Given the description of an element on the screen output the (x, y) to click on. 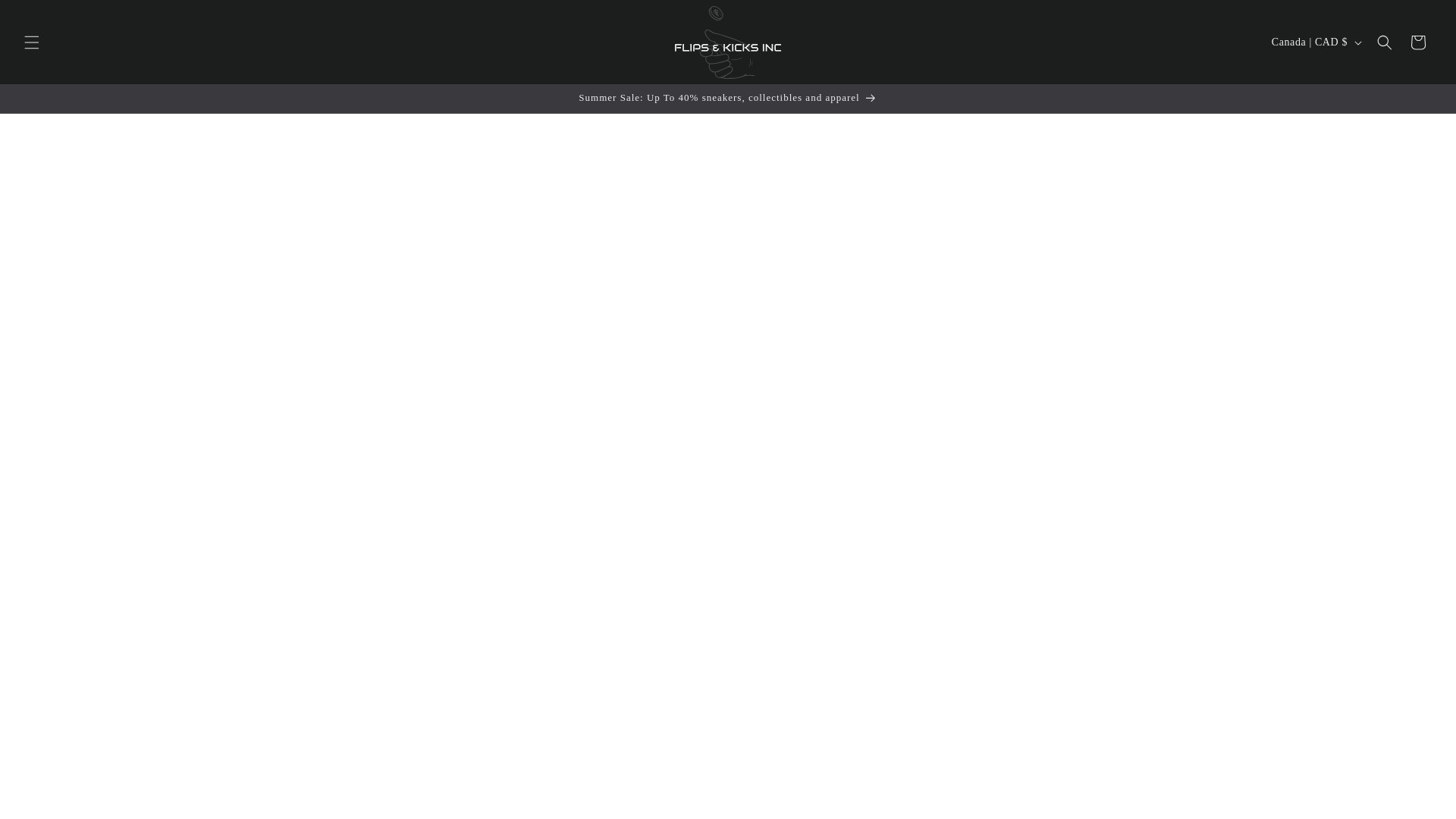
Skip to content (45, 17)
Cart (1417, 41)
